Given the description of an element on the screen output the (x, y) to click on. 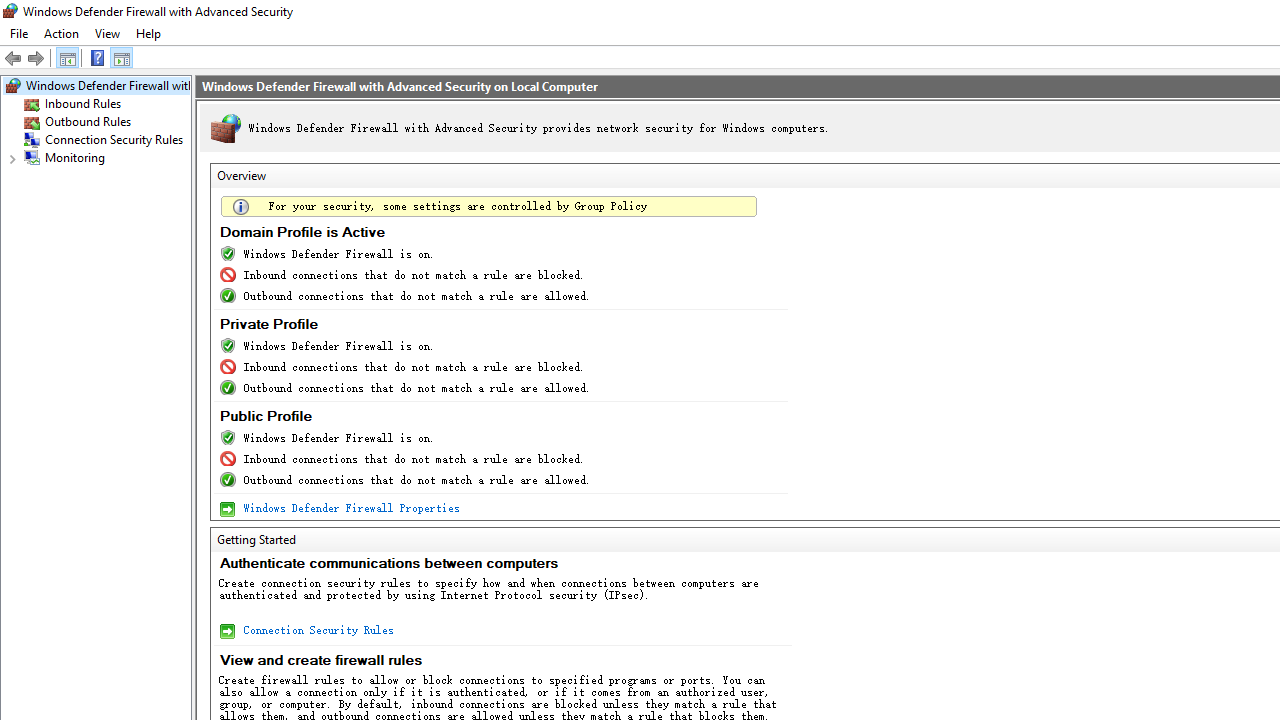
Windows Defender Firewall Properties (349, 507)
Action (61, 33)
Forward (36, 57)
